Given the description of an element on the screen output the (x, y) to click on. 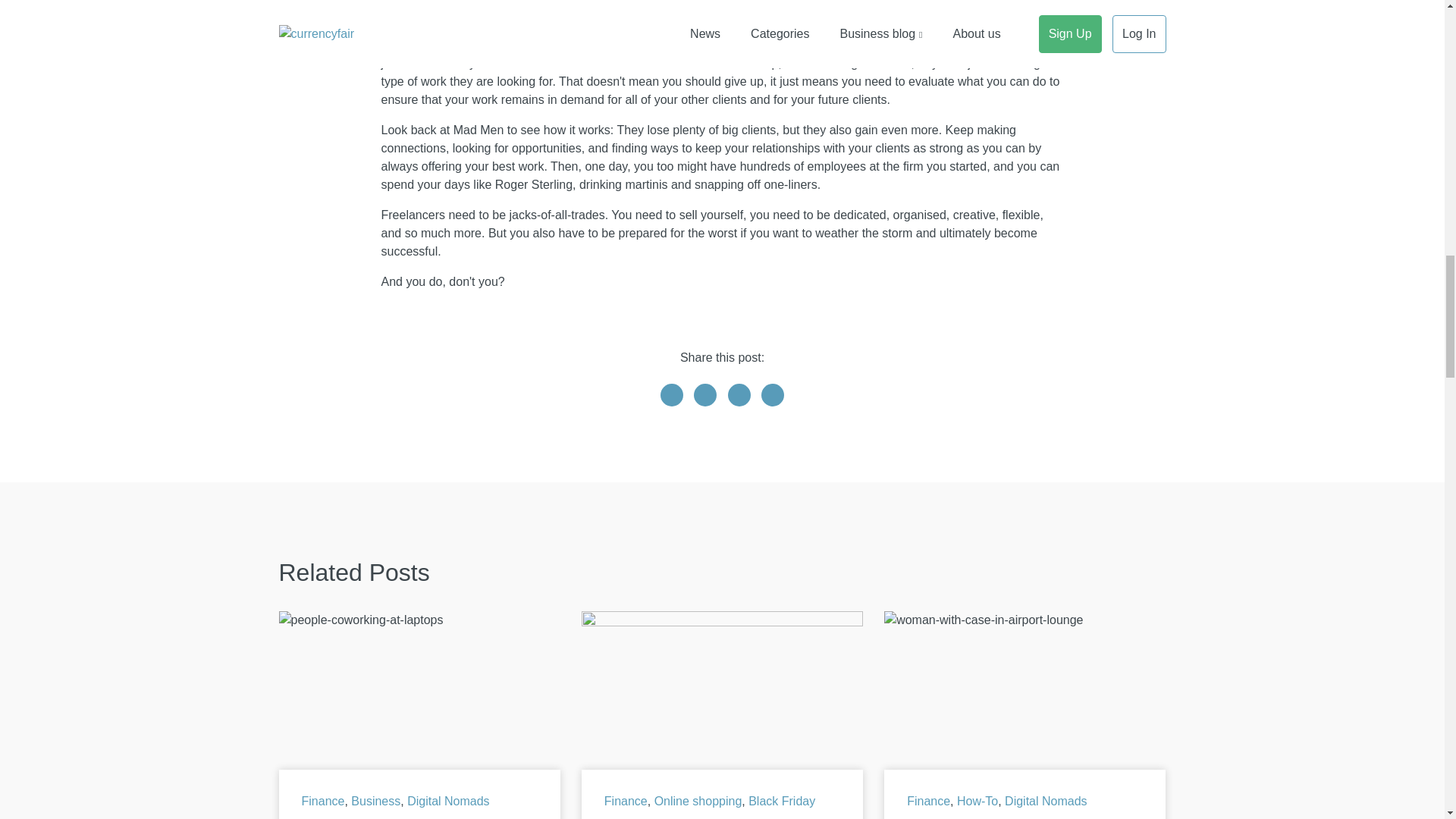
Finance (625, 800)
Black Friday (781, 800)
Finance (323, 800)
Finance (928, 800)
Online shopping (697, 800)
Business (375, 800)
Digital Nomads (448, 800)
drops a bit of wisdom (745, 1)
